Given the description of an element on the screen output the (x, y) to click on. 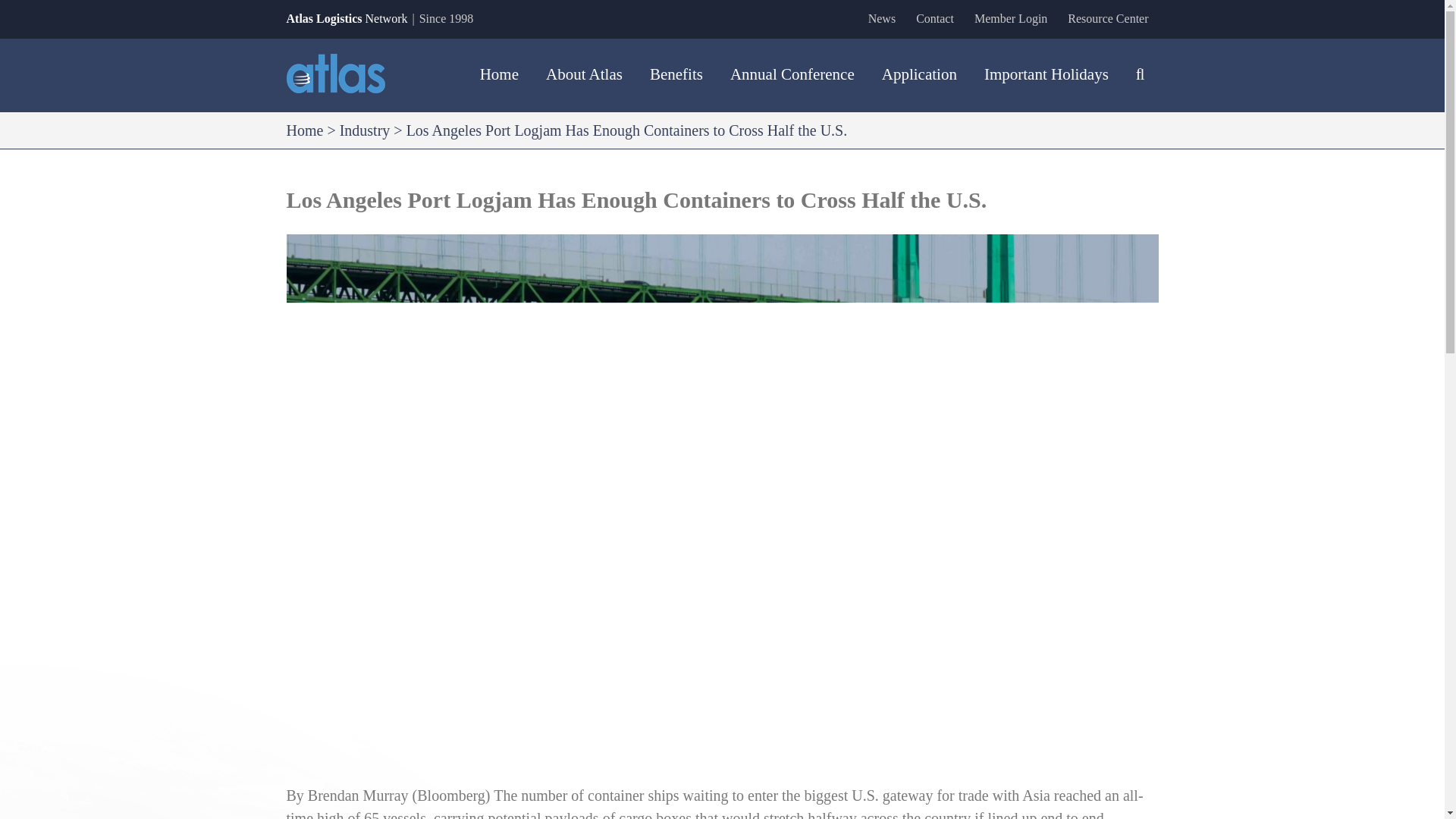
About Atlas (584, 74)
Home (498, 74)
Contact (934, 18)
Application (919, 74)
News (882, 18)
Resource Center (1107, 18)
Benefits (676, 74)
Important Holidays (1046, 74)
Home (304, 130)
Industry (364, 130)
Since 1998 (446, 18)
Member Login (1010, 18)
Annual Conference (791, 74)
